Given the description of an element on the screen output the (x, y) to click on. 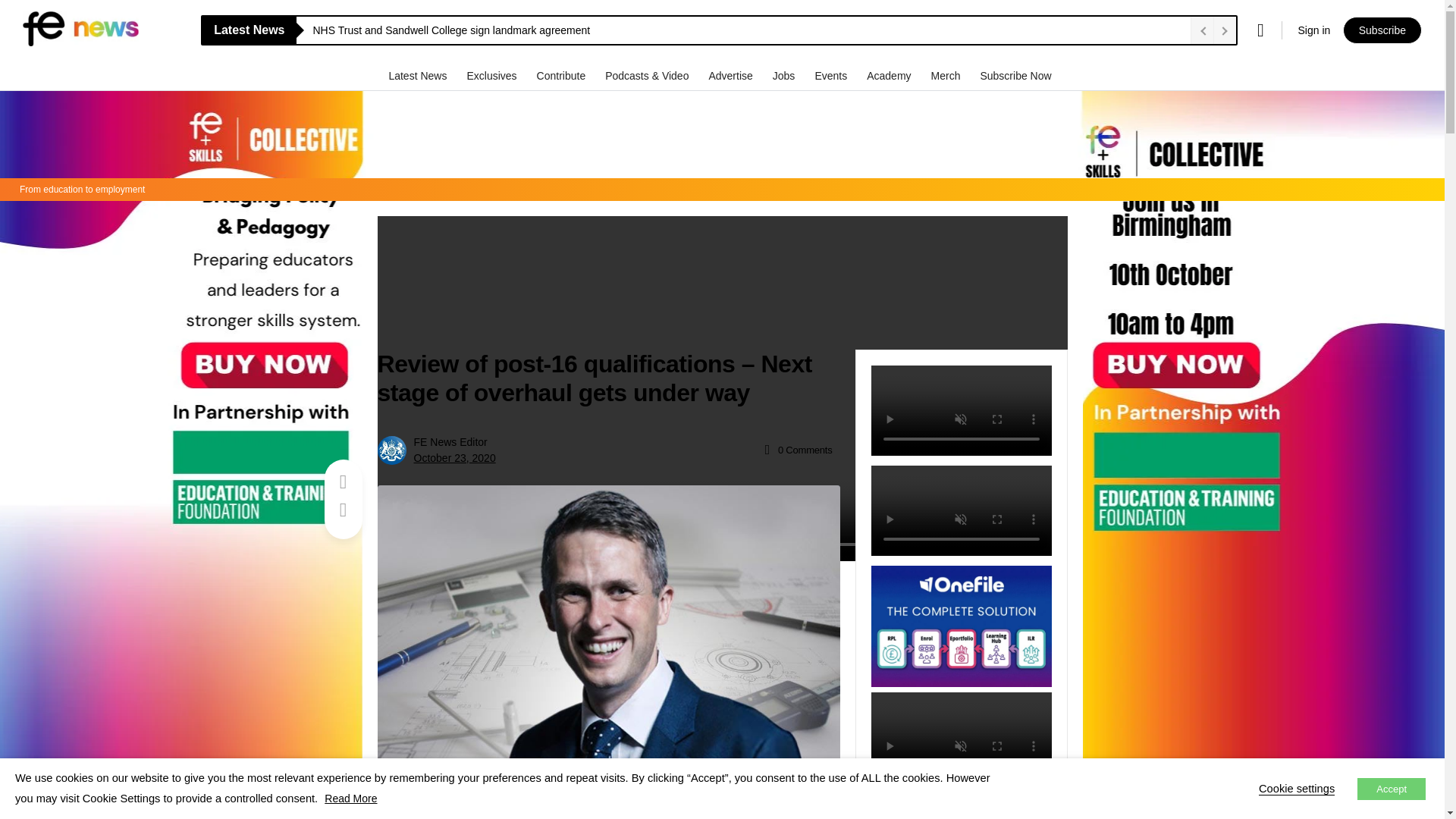
Exclusives (493, 75)
Subscribe (1382, 30)
Sign in (1313, 30)
Latest News (419, 75)
NHS Trust and Sandwell College sign landmark agreement (747, 30)
